Given the description of an element on the screen output the (x, y) to click on. 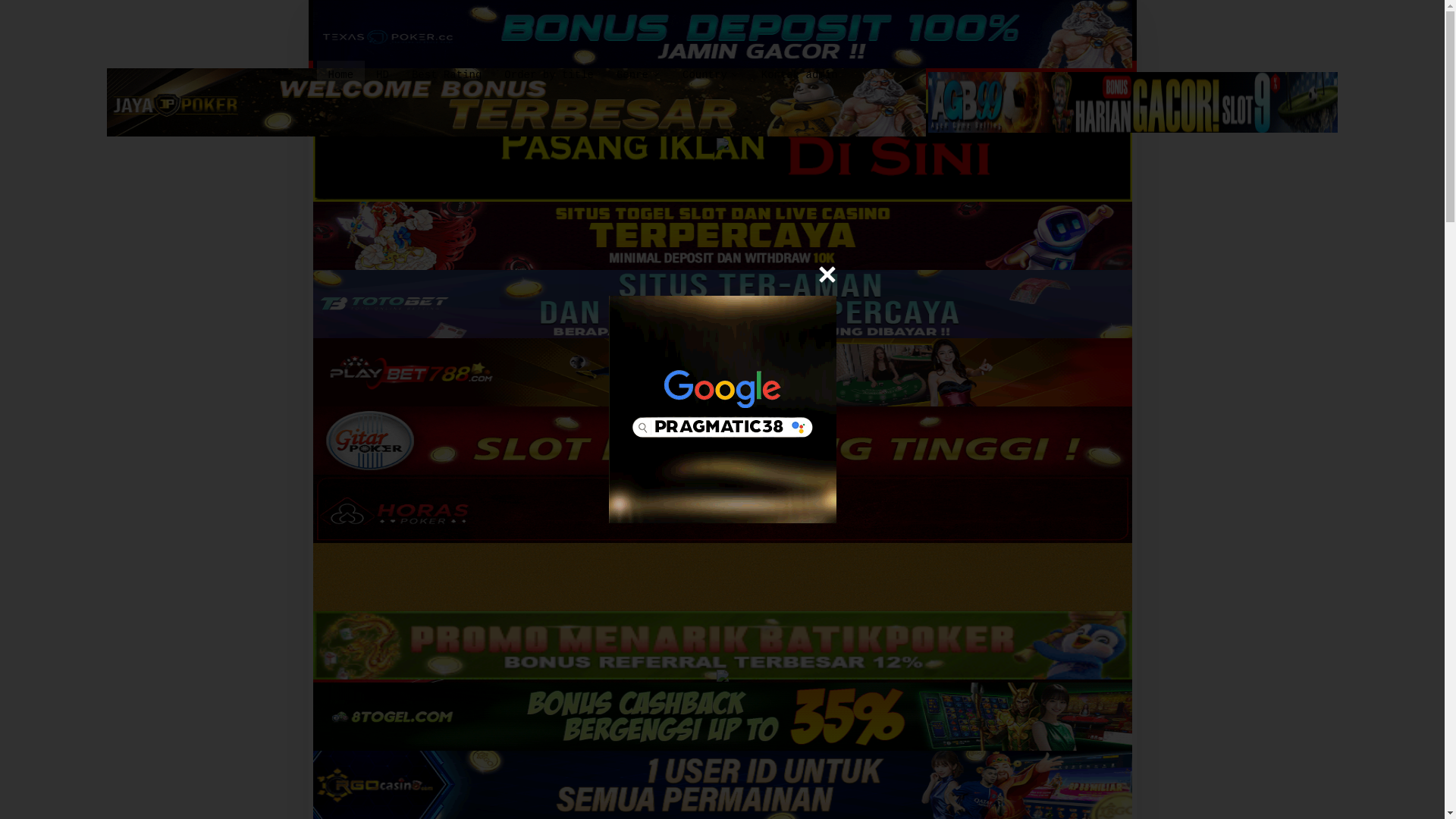
Country (710, 74)
Order by title (549, 74)
Order by title (549, 74)
CRIME (571, 99)
Home (341, 74)
ACTION (333, 99)
MYSTERY (618, 99)
ABG99 (1133, 102)
FANTASY (522, 99)
JAYAPOKER (516, 101)
HD (382, 74)
HD (382, 74)
TEXASPOKERCC (722, 33)
Genre (638, 74)
Kontak admin (798, 74)
